Given the description of an element on the screen output the (x, y) to click on. 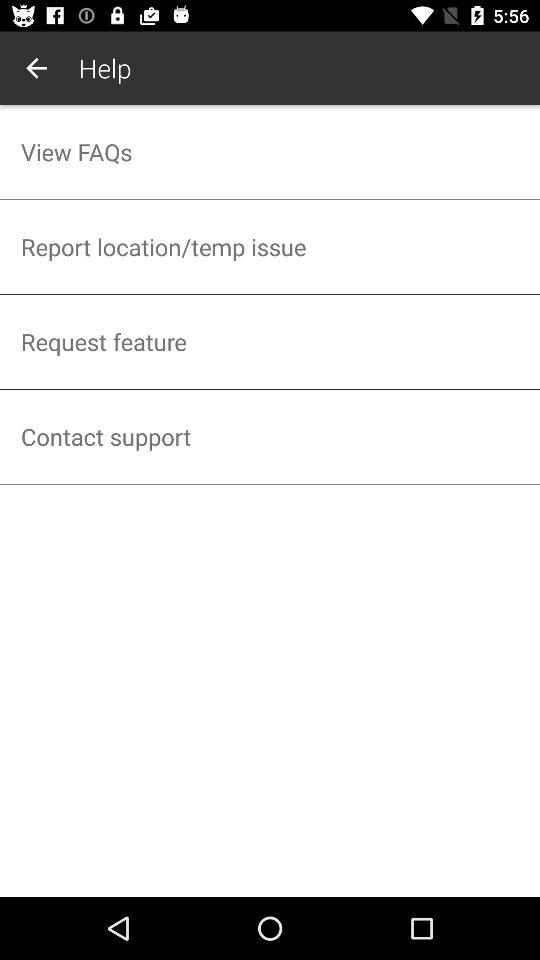
select the report location temp item (270, 246)
